Given the description of an element on the screen output the (x, y) to click on. 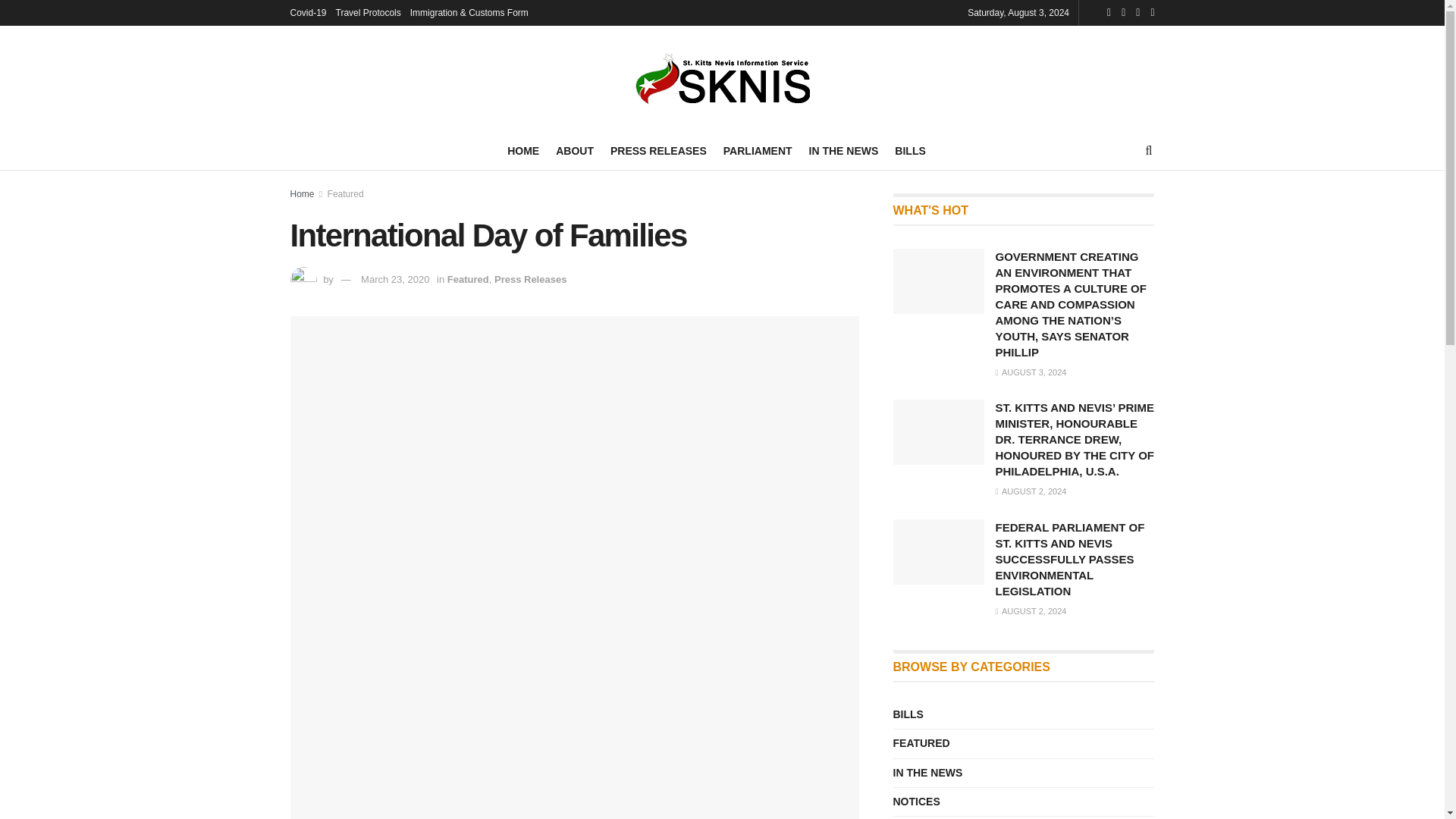
IN THE NEWS (844, 150)
ABOUT (575, 150)
Covid-19 (307, 12)
Home (301, 194)
March 23, 2020 (395, 279)
Featured (467, 279)
PARLIAMENT (757, 150)
Featured (345, 194)
Travel Protocols (368, 12)
Press Releases (530, 279)
PRESS RELEASES (658, 150)
